Given the description of an element on the screen output the (x, y) to click on. 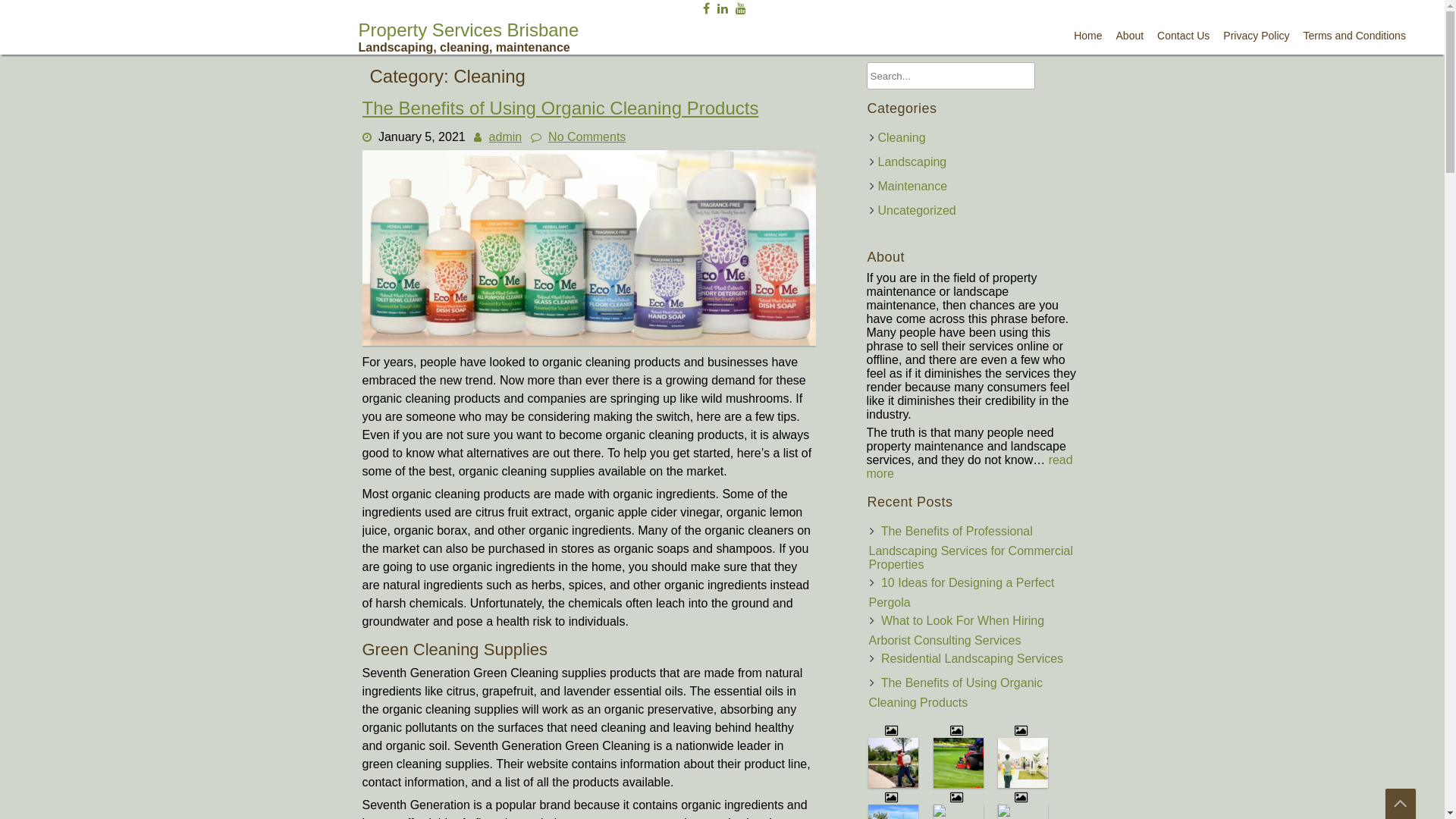
Follow us on Youtube Element type: hover (740, 7)
Contact Us Element type: text (1183, 35)
The Benefits of Using Organic Cleaning Products Element type: text (956, 692)
Landscaping Element type: text (912, 161)
The Benefits of Using Organic Cleaning Products Element type: hover (589, 341)
Privacy Policy Element type: text (1255, 35)
admin Element type: text (505, 136)
Follow us on Facebook Element type: hover (705, 7)
10 Ideas for Designing a Perfect Pergola Element type: text (961, 592)
Maintenance Element type: text (912, 185)
Residential Landscaping Services Element type: text (972, 658)
About Element type: text (1130, 35)
Cleaning Element type: text (901, 137)
Property Services Brisbane Element type: text (467, 36)
No Comments Element type: text (586, 136)
Home Element type: text (1087, 35)
Uncategorized Element type: text (917, 209)
The Benefits of Using Organic Cleaning Products Element type: text (560, 107)
read more Element type: text (969, 466)
Follow us on LinkedIn Element type: hover (722, 7)
What to Look For When Hiring Arborist Consulting Services Element type: text (956, 630)
Terms and Conditions Element type: text (1354, 35)
